Given the description of an element on the screen output the (x, y) to click on. 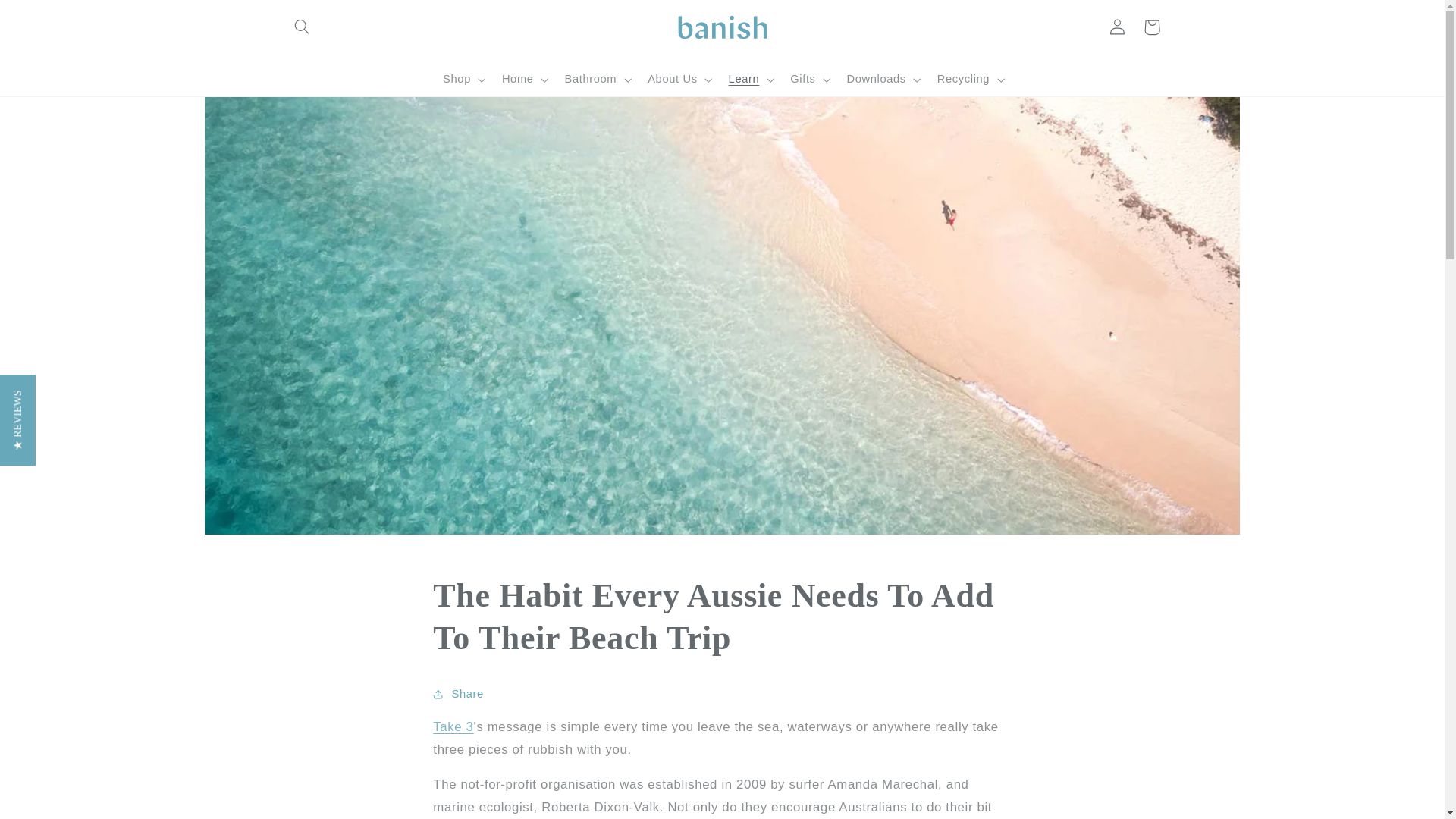
Skip to content (48, 18)
Take 3 (452, 726)
